Given the description of an element on the screen output the (x, y) to click on. 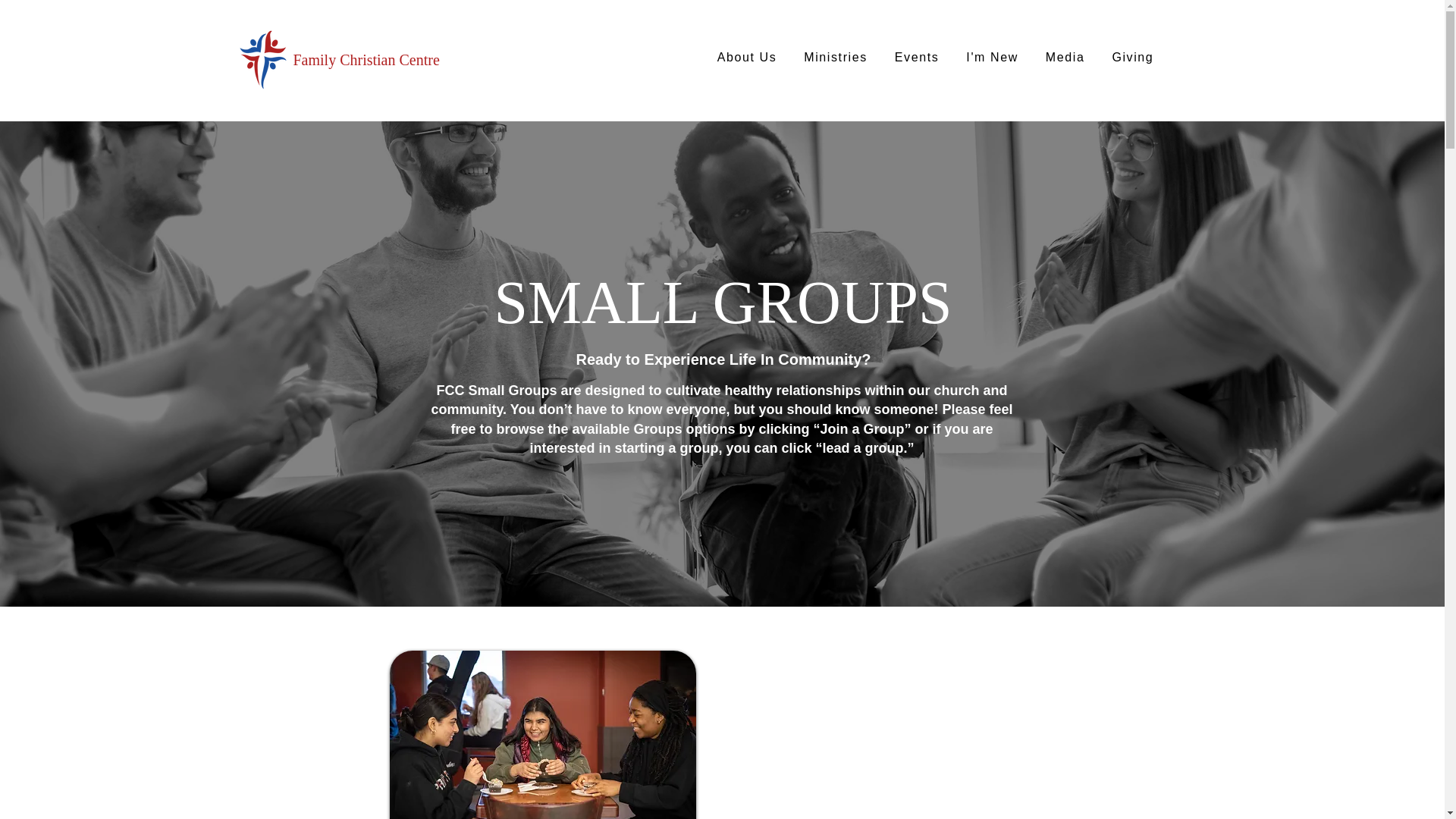
Giving (1131, 58)
Media (1064, 58)
Family Christian Centre (365, 59)
